Given the description of an element on the screen output the (x, y) to click on. 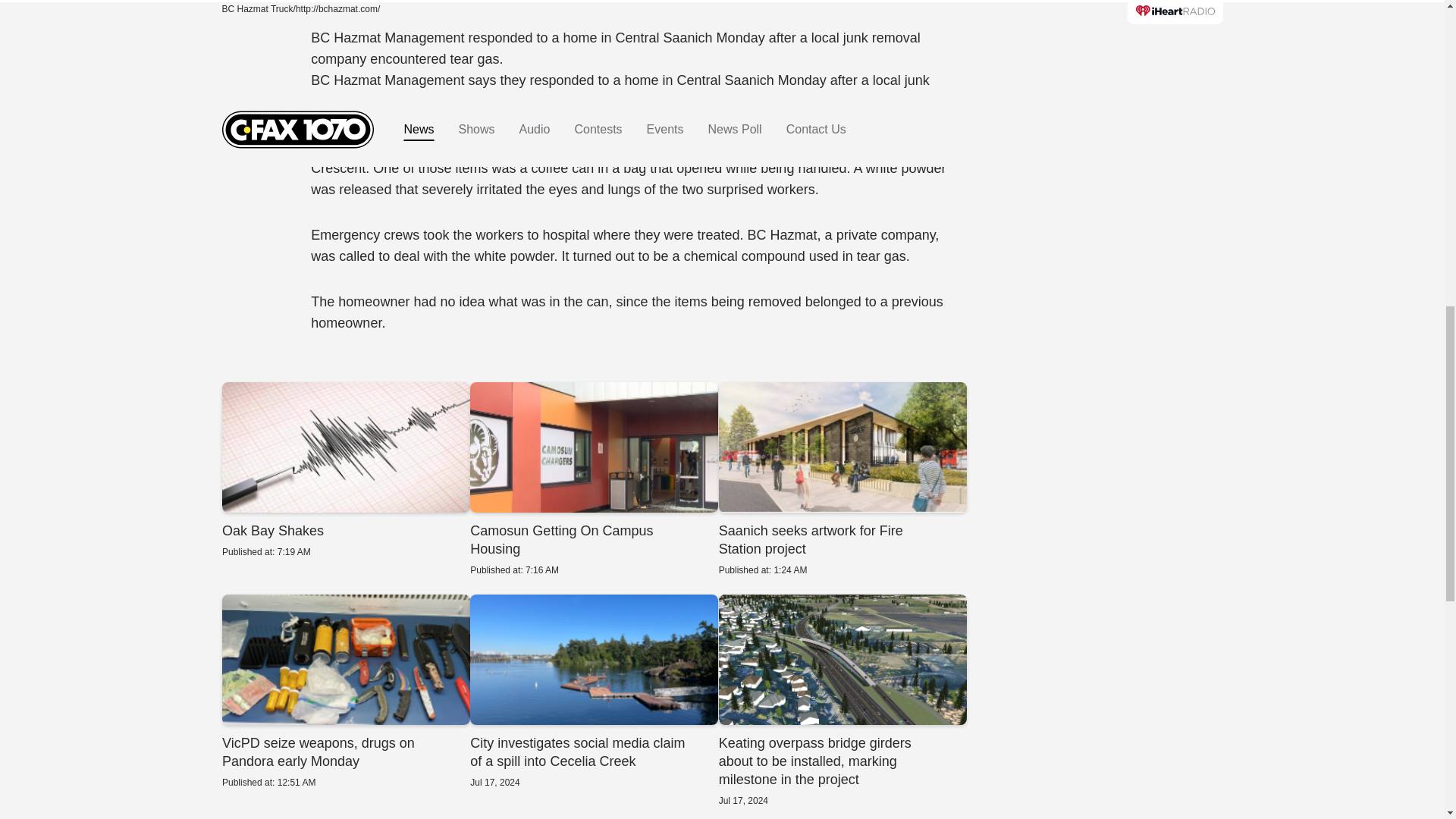
VicPD seize weapons, drugs on Pandora early Monday (344, 469)
Saanich seeks artwork for Fire Station project (344, 691)
Oak Bay Shakes (841, 479)
Camosun Getting On Campus Housing (593, 479)
